Given the description of an element on the screen output the (x, y) to click on. 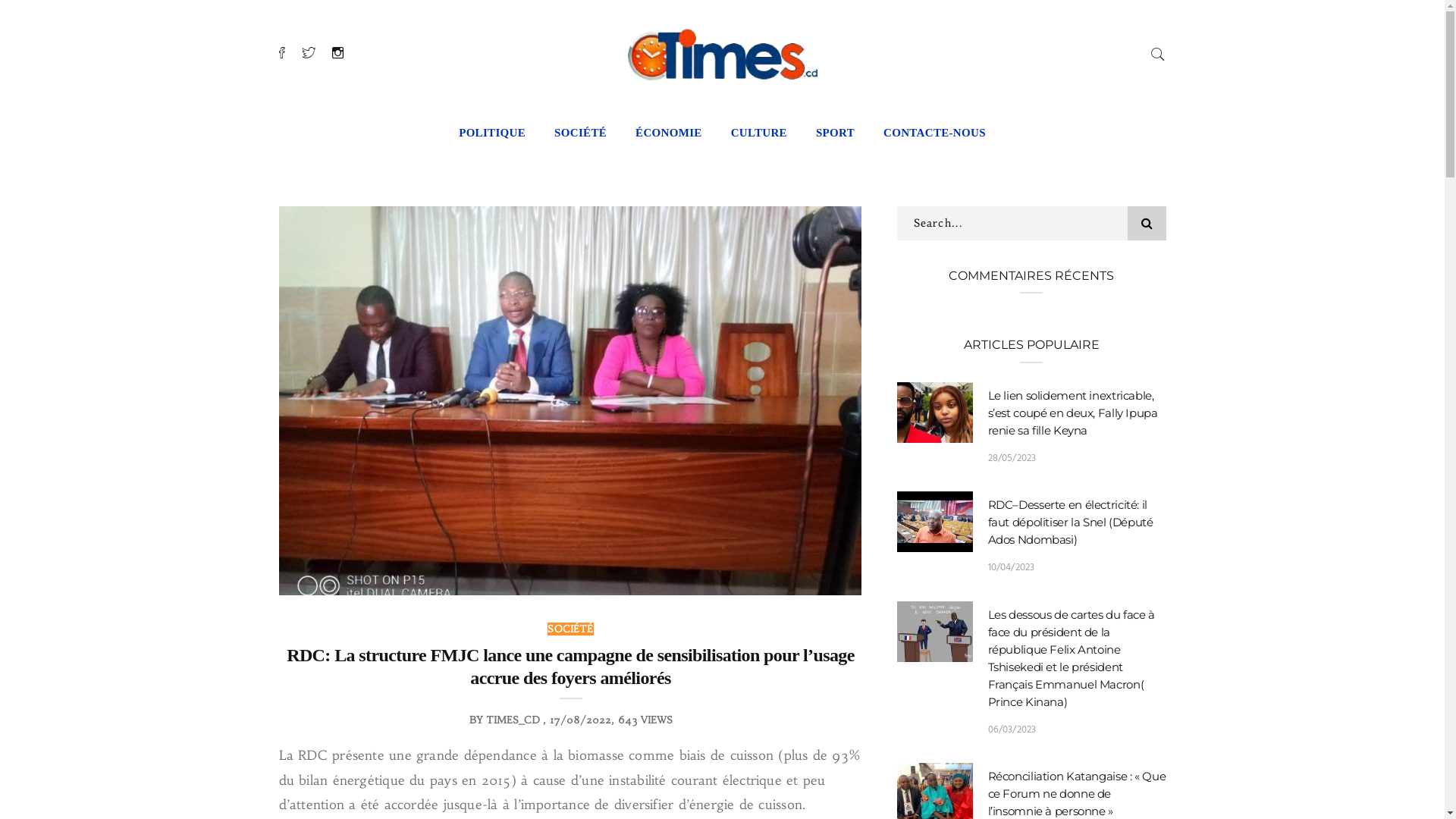
06/03/2023 Element type: text (1011, 729)
10/04/2023 Element type: text (1010, 567)
TIMES_CD Element type: text (512, 719)
SPORT Element type: text (834, 132)
Search Element type: hover (1157, 51)
POLITIQUE Element type: text (491, 132)
CULTURE Element type: text (759, 132)
28/05/2023 Element type: text (1011, 458)
CONTACTE-NOUS Element type: text (934, 132)
